Given the description of an element on the screen output the (x, y) to click on. 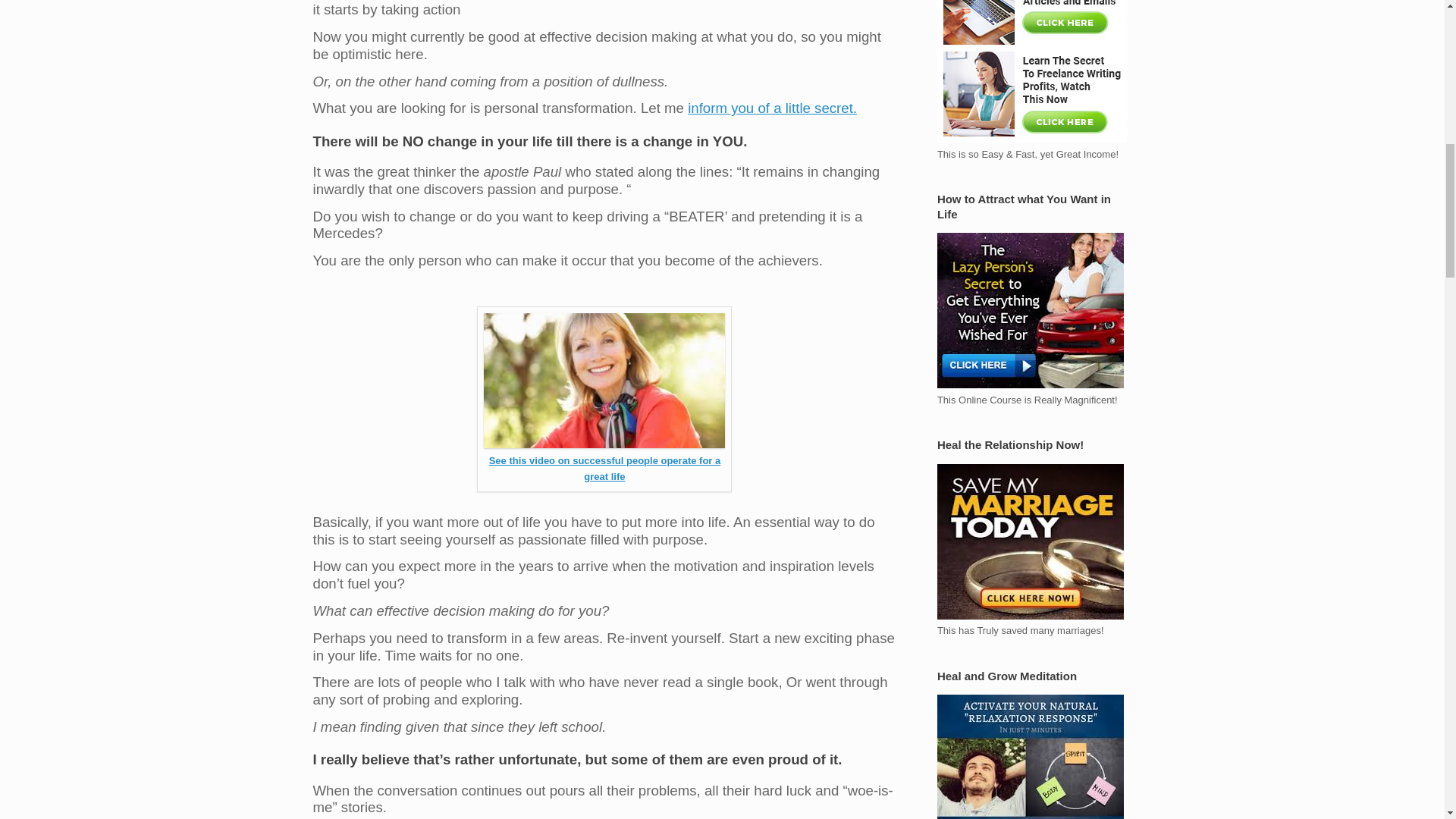
Heal the Relationship Now! (1030, 541)
How to Attract what You Want in Life (1030, 310)
See this video on successful people operate for a great life (604, 468)
inform you of a little secret. (772, 107)
